Given the description of an element on the screen output the (x, y) to click on. 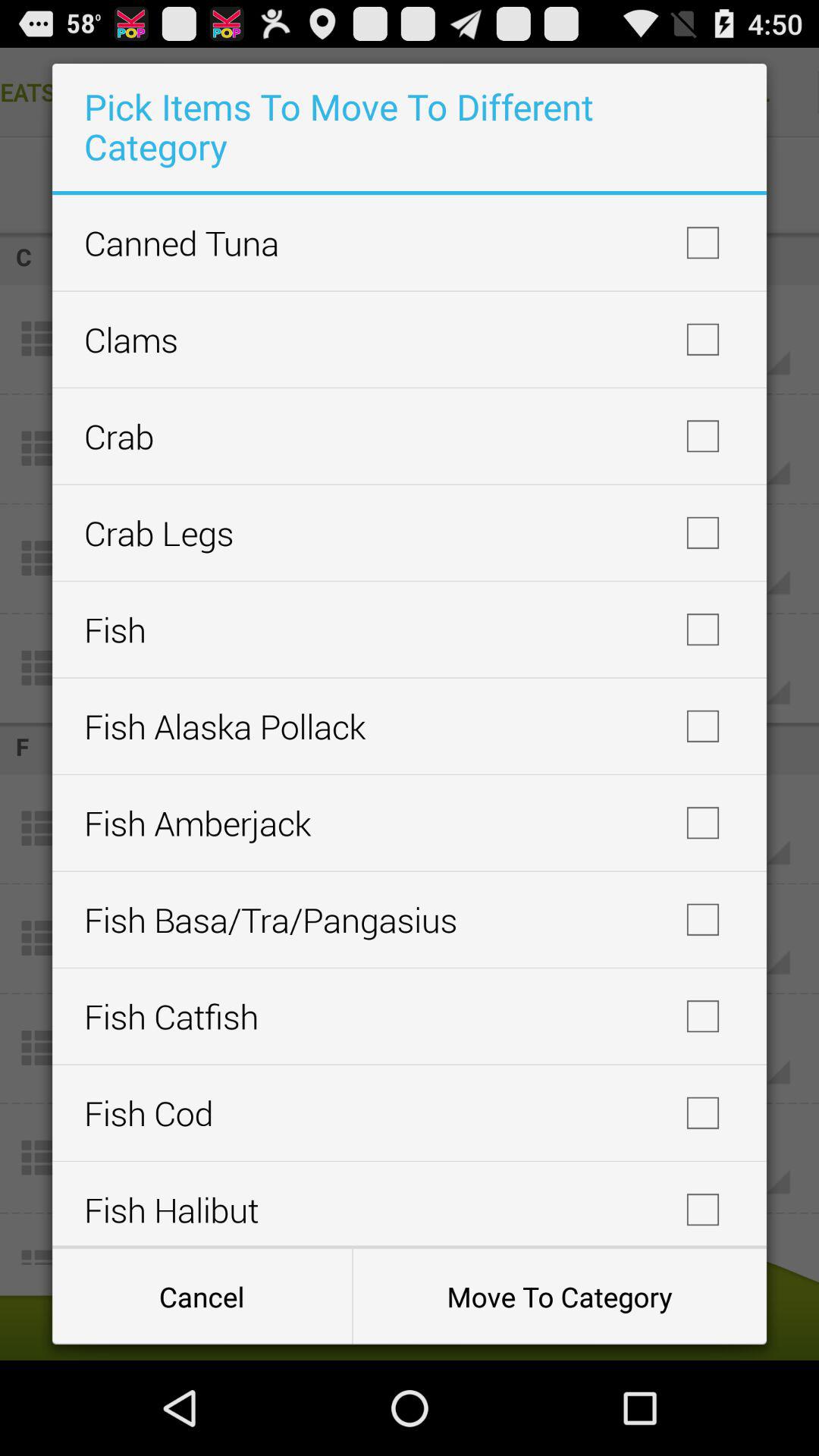
scroll to cancel button (202, 1296)
